Given the description of an element on the screen output the (x, y) to click on. 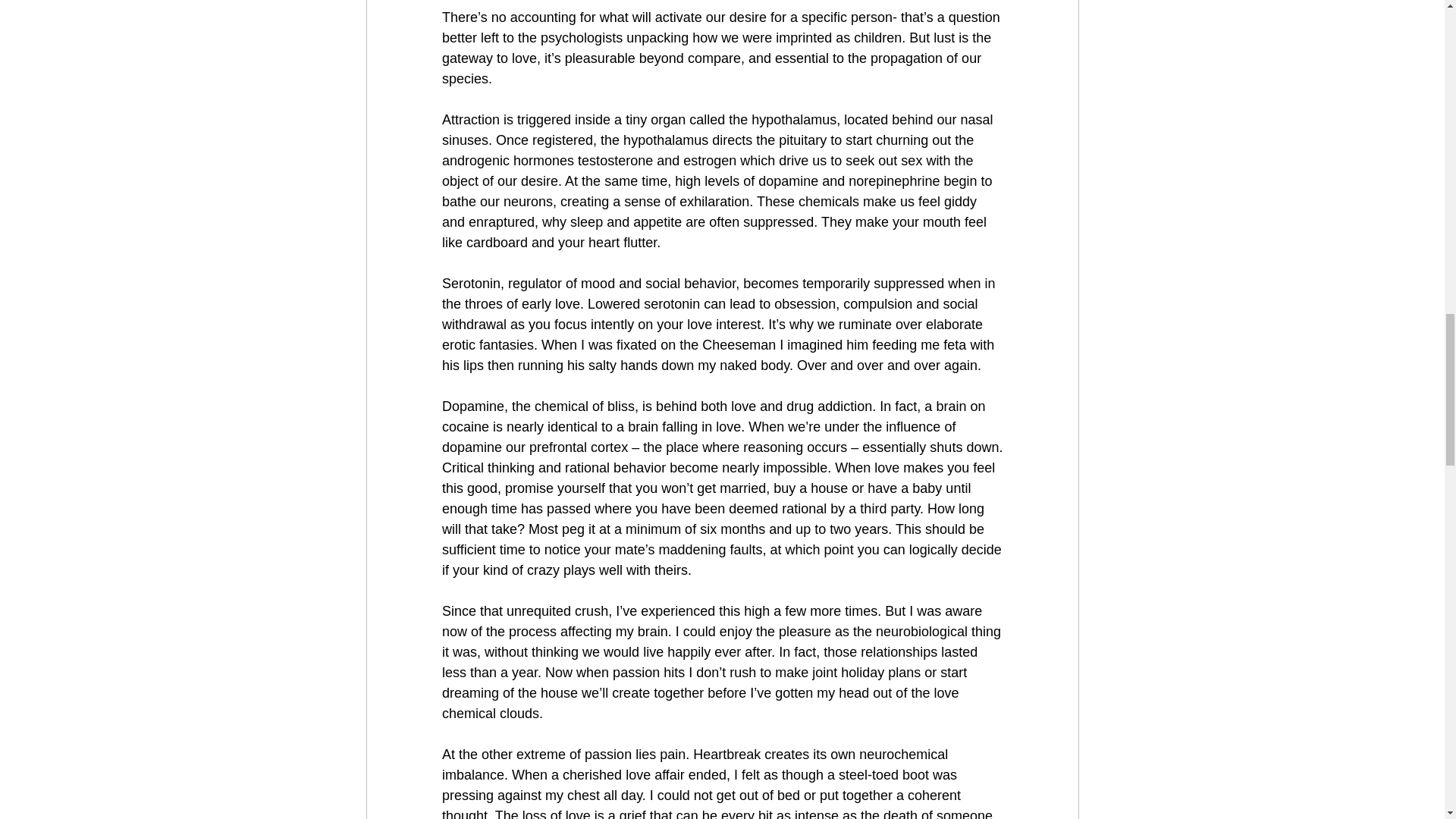
tiny organ called the hypothalamus (730, 119)
